Given the description of an element on the screen output the (x, y) to click on. 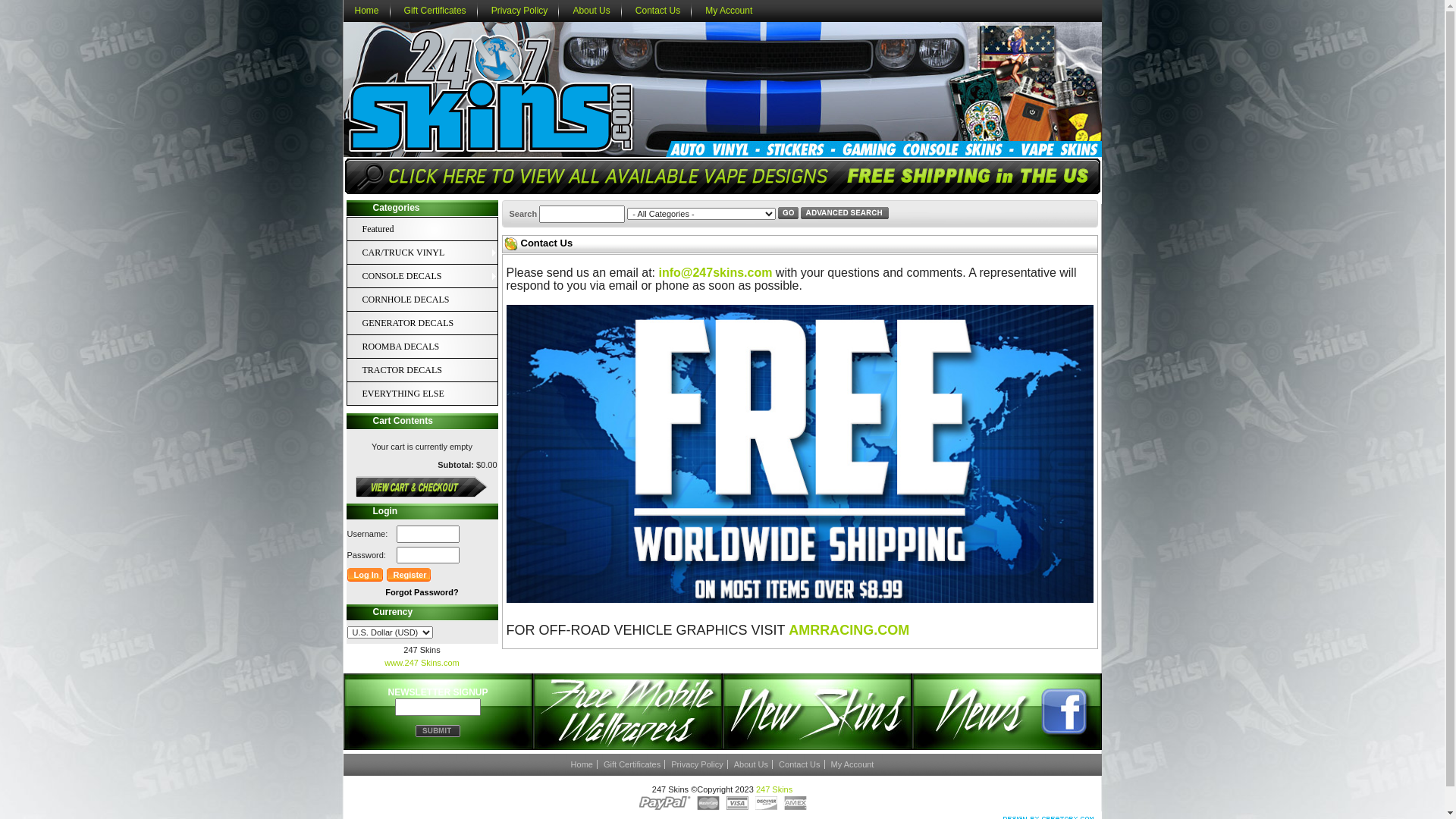
Home Element type: text (365, 10)
About Us Element type: text (591, 10)
EVERYTHING ELSE Element type: text (414, 393)
Privacy Policy Element type: text (519, 10)
About Us Element type: text (751, 763)
GENERATOR DECALS Element type: text (429, 322)
Contact Us Element type: text (657, 10)
CAR/TRUCK VINYL Element type: text (429, 252)
My Account Element type: text (852, 763)
My Account Element type: text (728, 10)
TRACTOR DECALS Element type: text (414, 369)
247 Skins Element type: text (774, 788)
Forgot Password? Element type: text (421, 591)
Gift Certificates Element type: text (632, 763)
www.247 Skins.com Element type: text (421, 662)
info@247skins.com Element type: text (715, 272)
GENERATOR DECALS Element type: text (414, 322)
CONSOLE DECALS Element type: text (414, 275)
Privacy Policy Element type: text (697, 763)
Log In Element type: text (365, 574)
CORNHOLE DECALS Element type: text (429, 299)
CAR/TRUCK VINYL Element type: text (414, 252)
AMRRACING.COM Element type: text (848, 631)
Featured Element type: text (429, 228)
CONSOLE DECALS Element type: text (429, 275)
TRACTOR DECALS Element type: text (429, 369)
Gift Certificates Element type: text (434, 10)
Home Element type: text (582, 763)
EVERYTHING ELSE Element type: text (429, 393)
Contact Us Element type: text (799, 763)
ROOMBA DECALS Element type: text (414, 346)
ROOMBA DECALS Element type: text (429, 346)
CORNHOLE DECALS Element type: text (414, 299)
Register Element type: text (408, 574)
Featured Element type: text (414, 228)
